Given the description of an element on the screen output the (x, y) to click on. 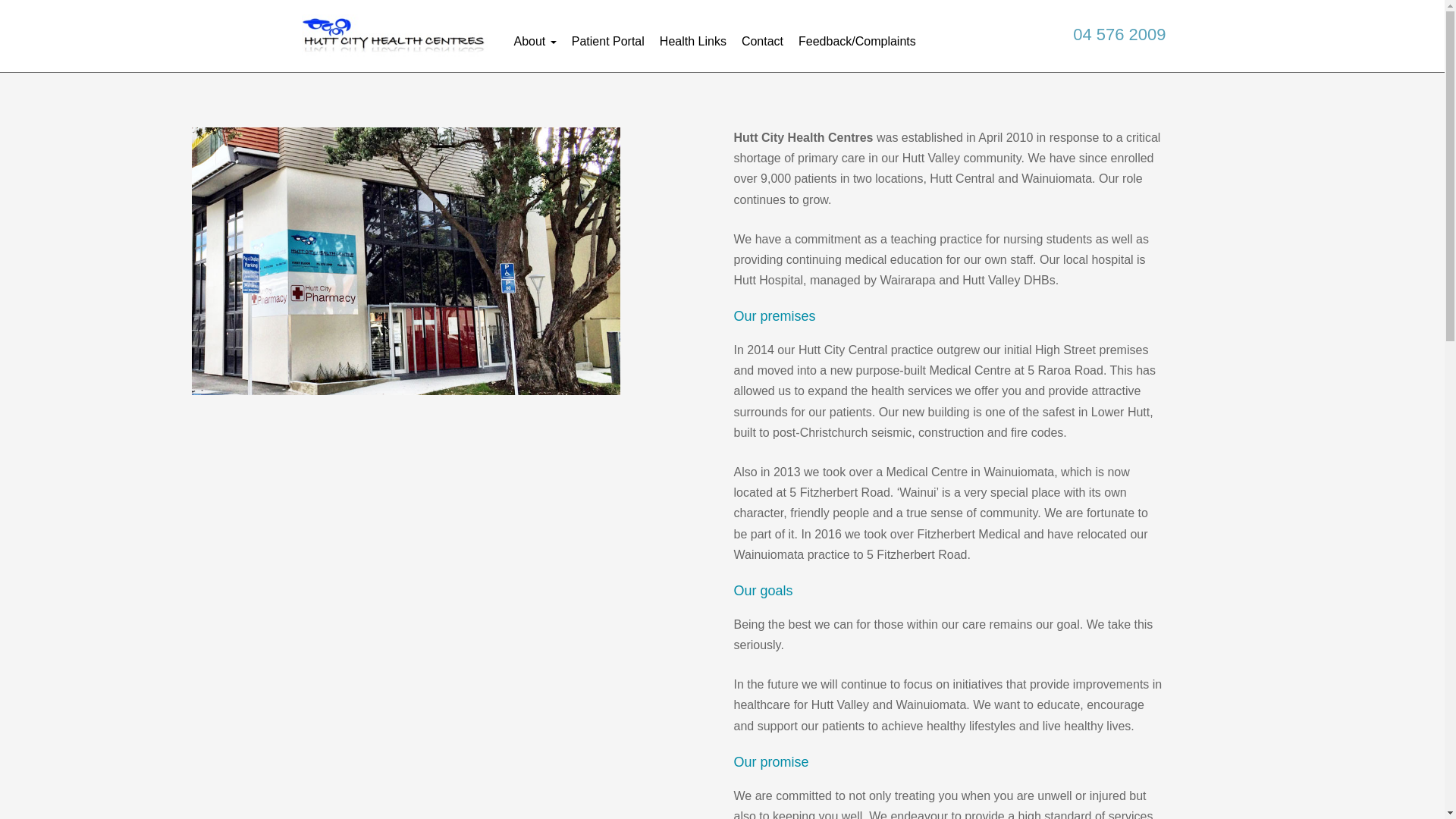
Health Links (693, 35)
Contact (762, 35)
Patient Portal (607, 35)
About (534, 35)
